Given the description of an element on the screen output the (x, y) to click on. 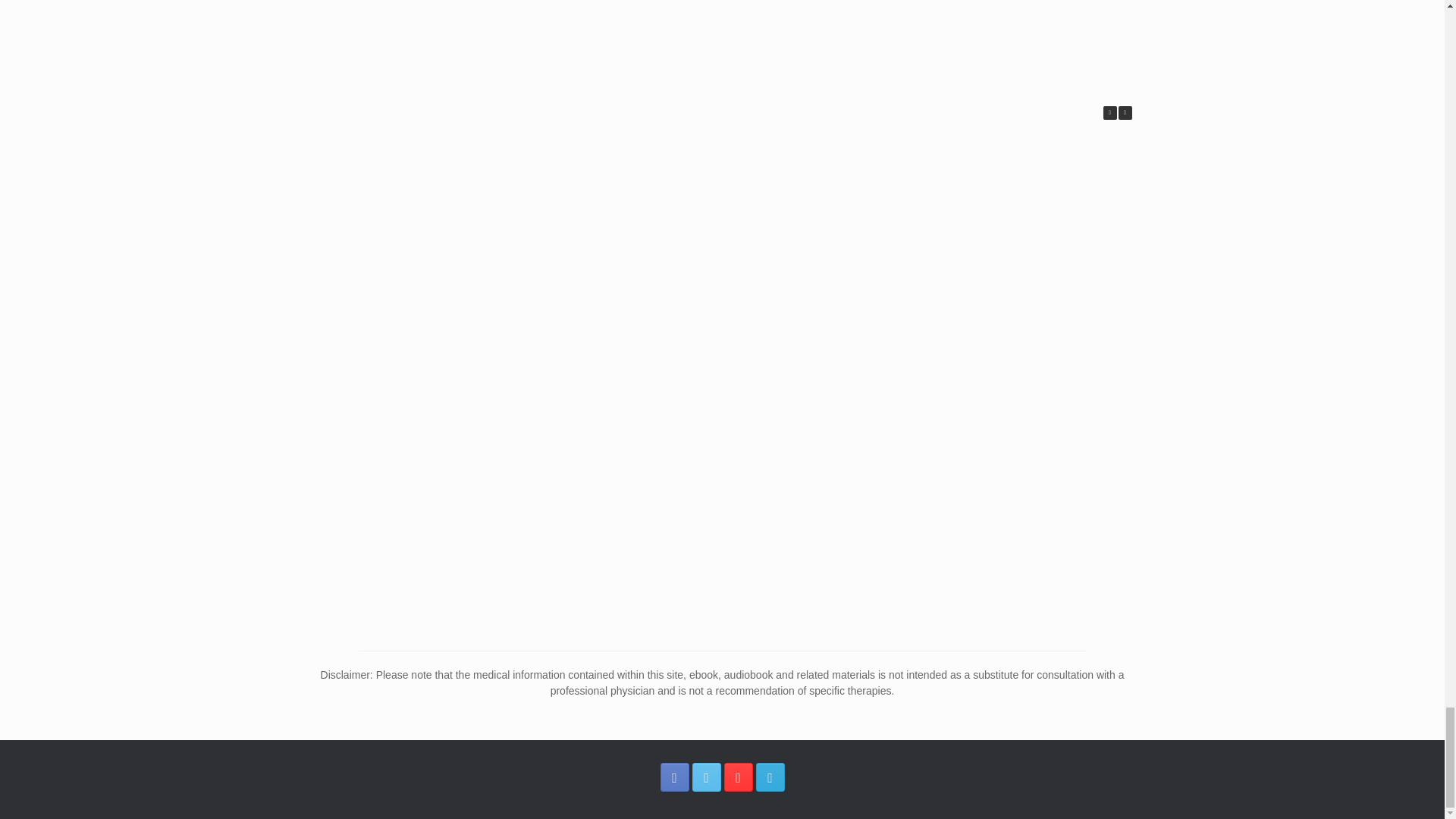
Depersonalization Manual Email (769, 776)
Previous (1109, 112)
Depersonalization Manual YouTube (737, 776)
Depersonalization Manual Facebook (673, 776)
Depersonalization Manual Twitter (705, 776)
Depersonalization Manual Collection (725, 38)
Next (1124, 112)
